Given the description of an element on the screen output the (x, y) to click on. 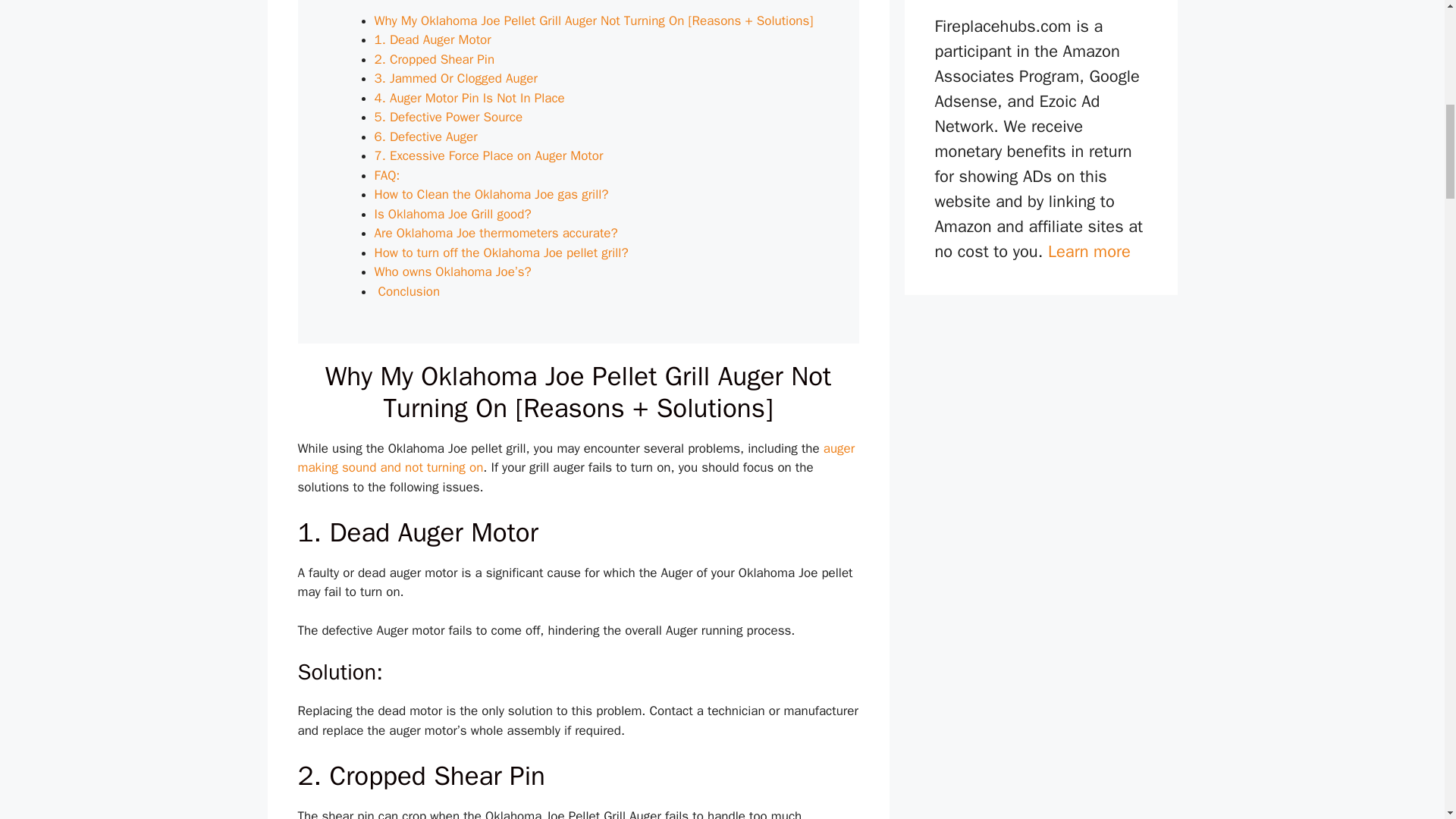
How to Clean the Oklahoma Joe gas grill?  (493, 194)
Scroll back to top (1406, 720)
4. Auger Motor Pin Is Not In Place (469, 98)
 Conclusion (407, 291)
How to turn off the Oklahoma Joe pellet grill? (501, 252)
2. Cropped Shear Pin (434, 59)
Are Oklahoma Joe thermometers accurate? (495, 232)
5. Defective Power Source (448, 116)
7. Excessive Force Place on Auger Motor (489, 155)
Is Oklahoma Joe Grill good?  (454, 213)
1. Dead Auger Motor (433, 39)
3. Jammed Or Clogged Auger  (457, 78)
6. Defective Auger  (427, 136)
FAQ: (387, 175)
